Given the description of an element on the screen output the (x, y) to click on. 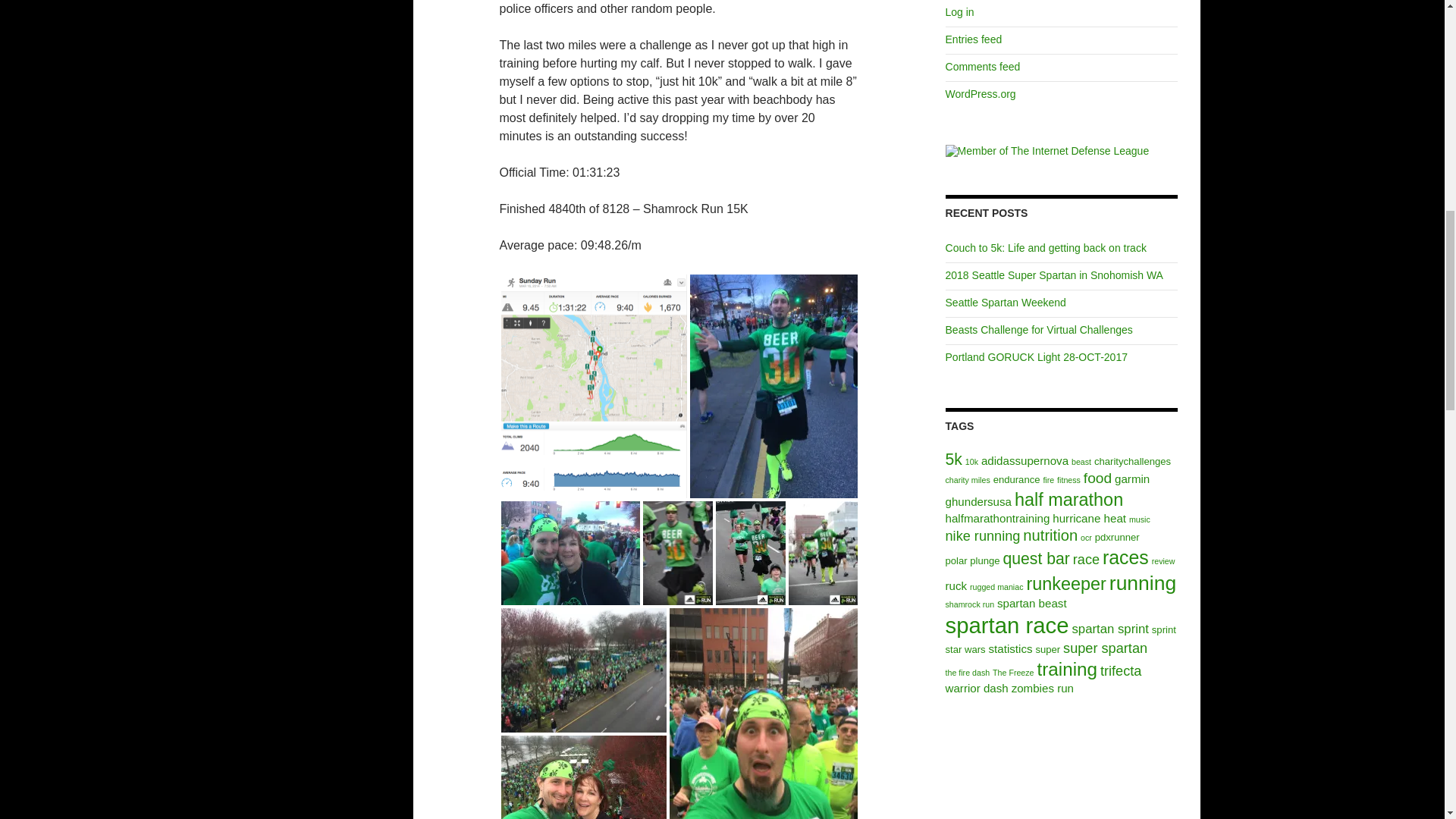
E0D8AF3A-DCBD-48BE-9A10-2A388961A2A5 (762, 713)
